Given the description of an element on the screen output the (x, y) to click on. 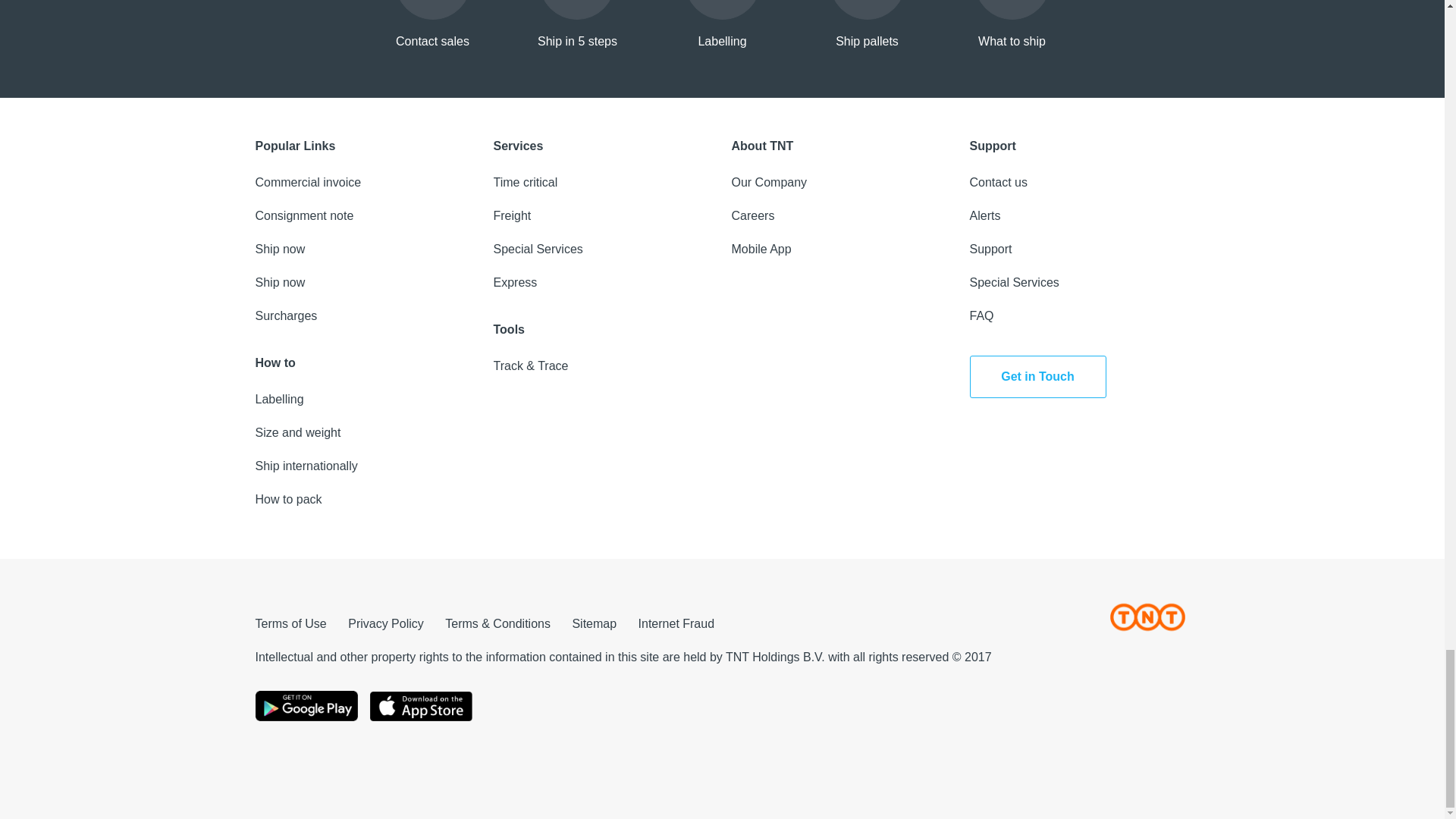
Ship pallets (867, 26)
Size and weight (297, 431)
Ship now (279, 248)
Consignment note (303, 215)
Time critical (525, 182)
Ship in 5 steps (577, 26)
How to pack (287, 499)
Labelling (278, 399)
Special Services (537, 248)
Our Company (768, 182)
Express (515, 282)
Freight (512, 215)
Contact sales (432, 26)
What to ship (1011, 26)
Surcharges (285, 315)
